Given the description of an element on the screen output the (x, y) to click on. 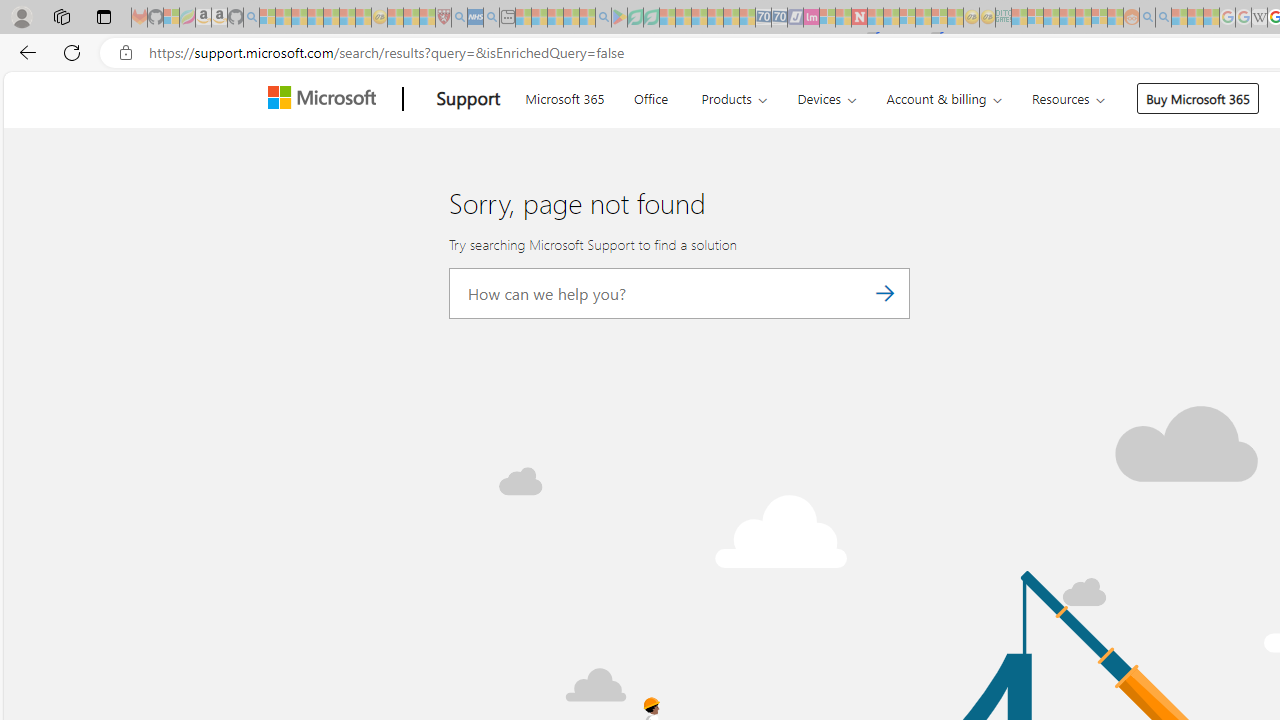
Target page - Wikipedia - Sleeping (1259, 17)
How can we help you? (679, 293)
Office (650, 96)
Office (650, 96)
